Given the description of an element on the screen output the (x, y) to click on. 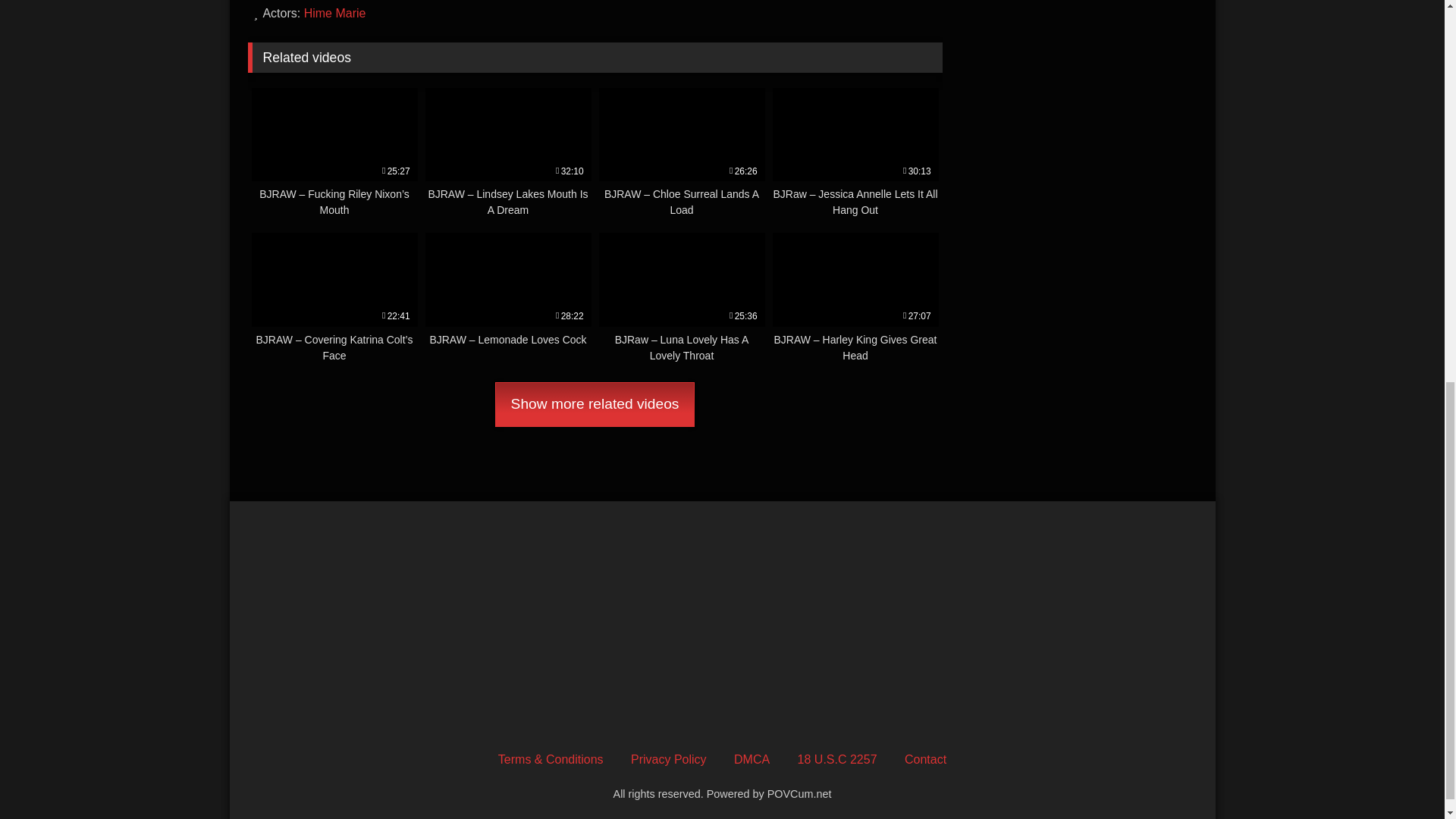
Hime Marie (335, 12)
Contact (925, 758)
Hime Marie (335, 12)
Show more related videos (594, 404)
Privacy Policy (668, 758)
DMCA (751, 758)
18 U.S.C 2257 (837, 758)
